Given the description of an element on the screen output the (x, y) to click on. 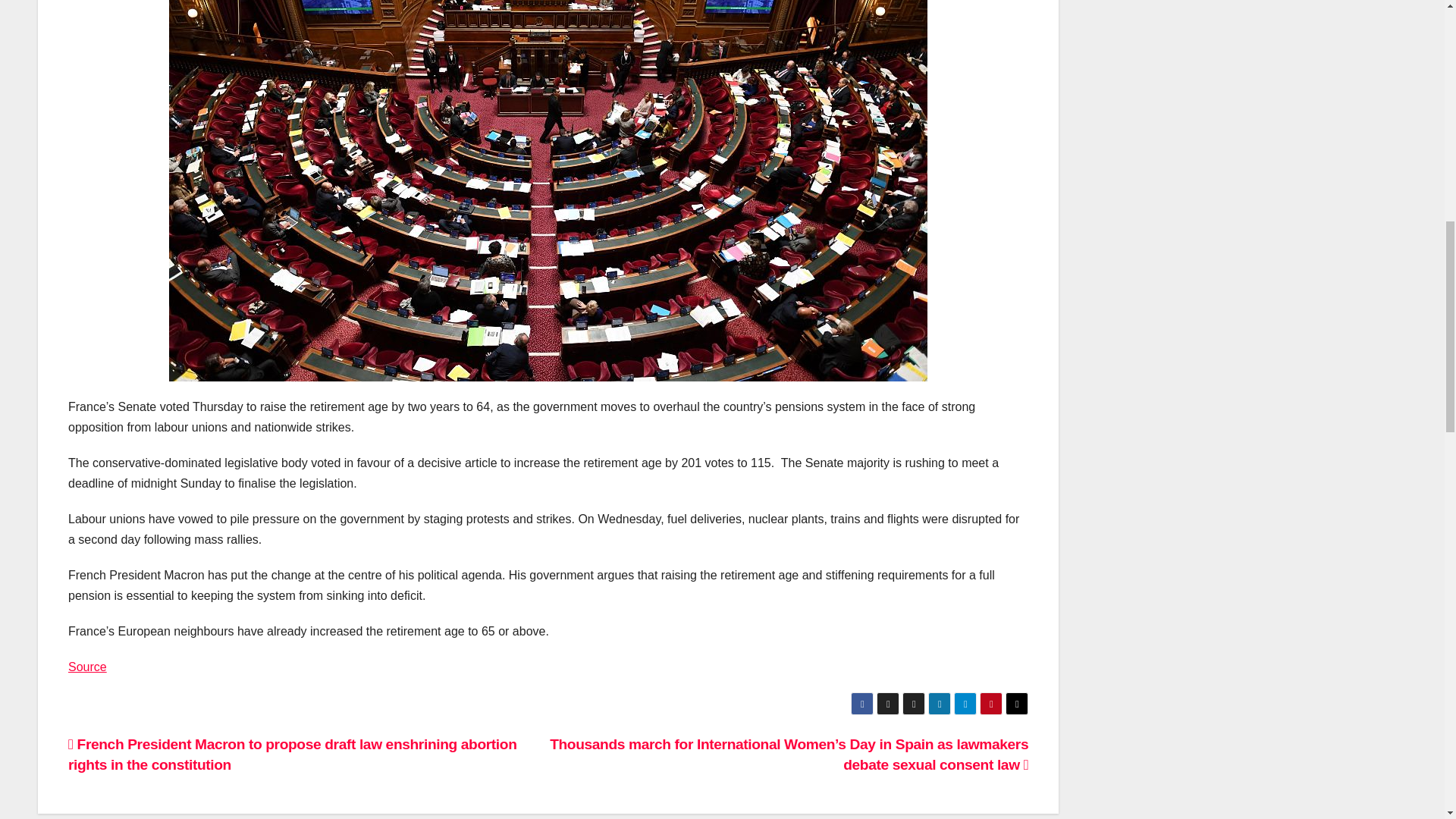
Source (87, 666)
